Given the description of an element on the screen output the (x, y) to click on. 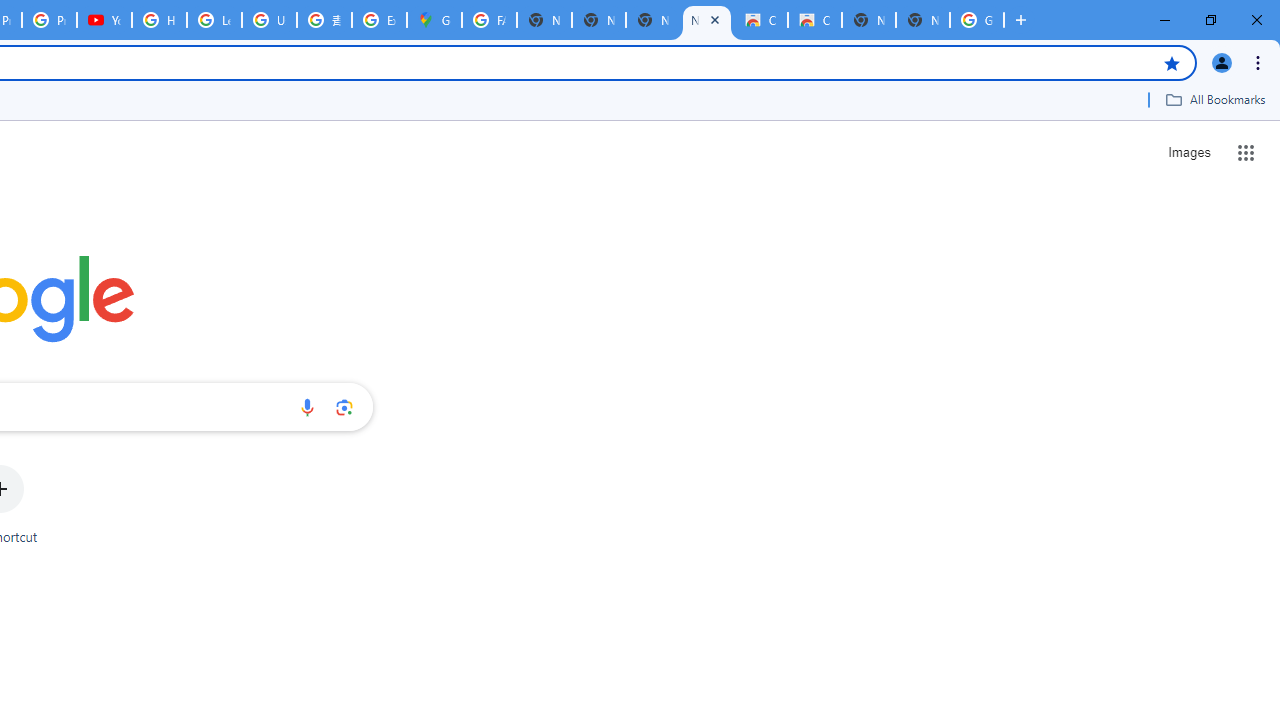
Privacy Checkup (48, 20)
Explore new street-level details - Google Maps Help (379, 20)
New Tab (922, 20)
Classic Blue - Chrome Web Store (815, 20)
Classic Blue - Chrome Web Store (760, 20)
